Given the description of an element on the screen output the (x, y) to click on. 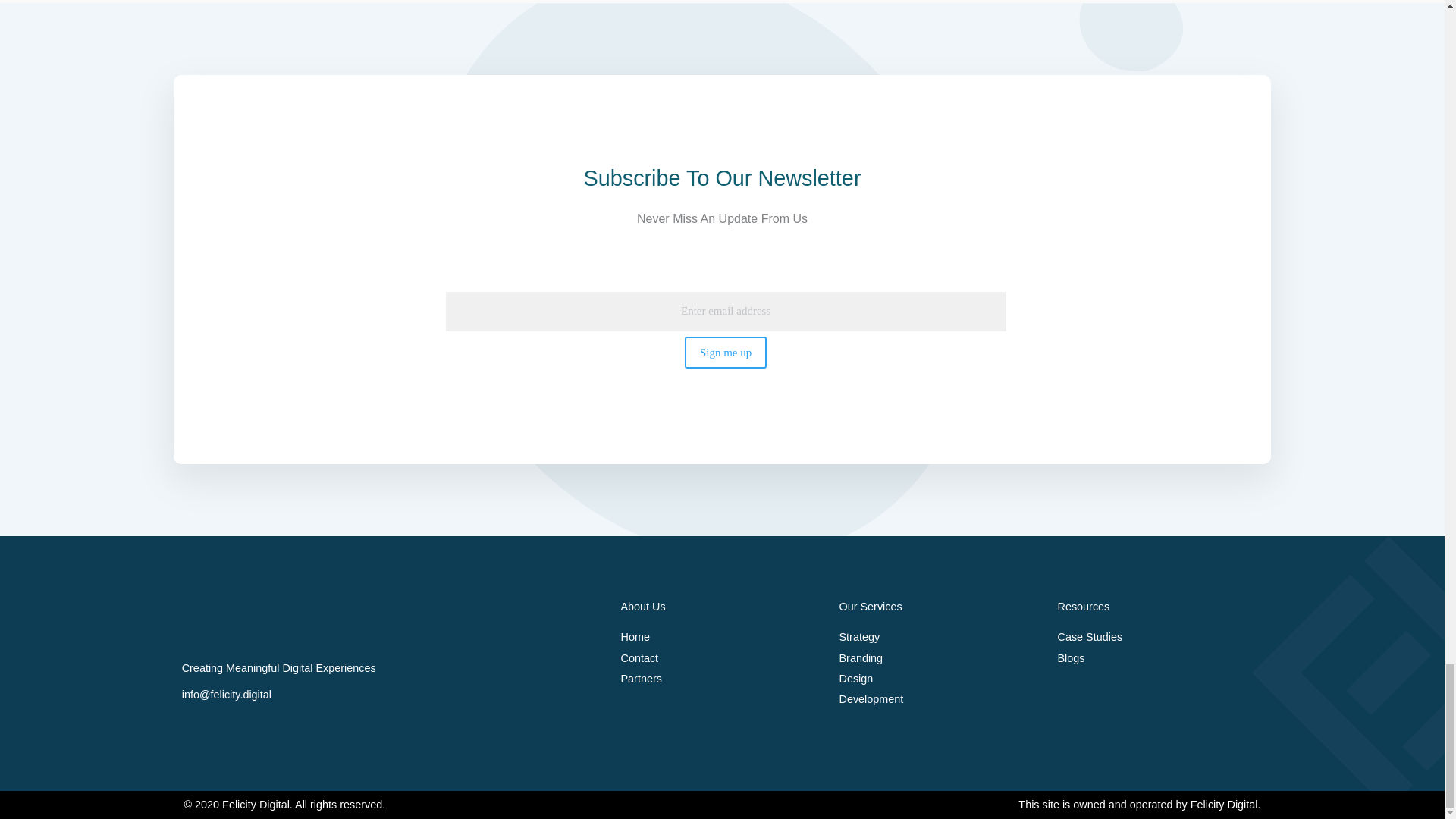
Partners (722, 679)
Branding (940, 658)
Design (940, 679)
Sign me up (725, 352)
Contact (722, 658)
Sign me up (725, 352)
Strategy (940, 637)
Home (722, 637)
Development (940, 699)
